Given the description of an element on the screen output the (x, y) to click on. 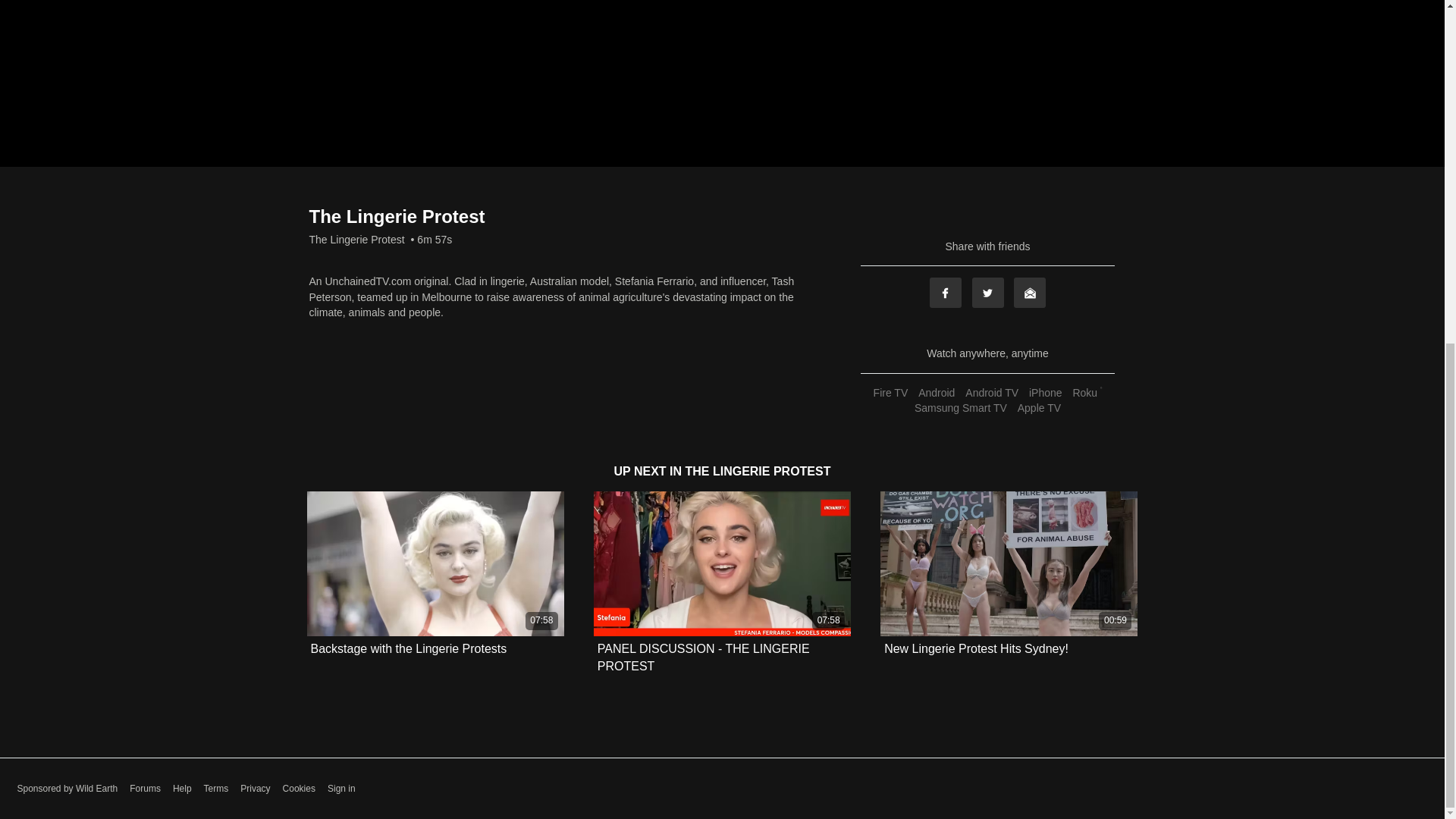
Privacy (254, 788)
Help (182, 788)
THE LINGERIE PROTEST (756, 471)
Samsung Smart TV (960, 408)
Facebook (945, 292)
07:58 (722, 563)
Twitter (988, 292)
The Lingerie Protest (356, 239)
Apple TV (1038, 408)
07:58 (434, 563)
